Given the description of an element on the screen output the (x, y) to click on. 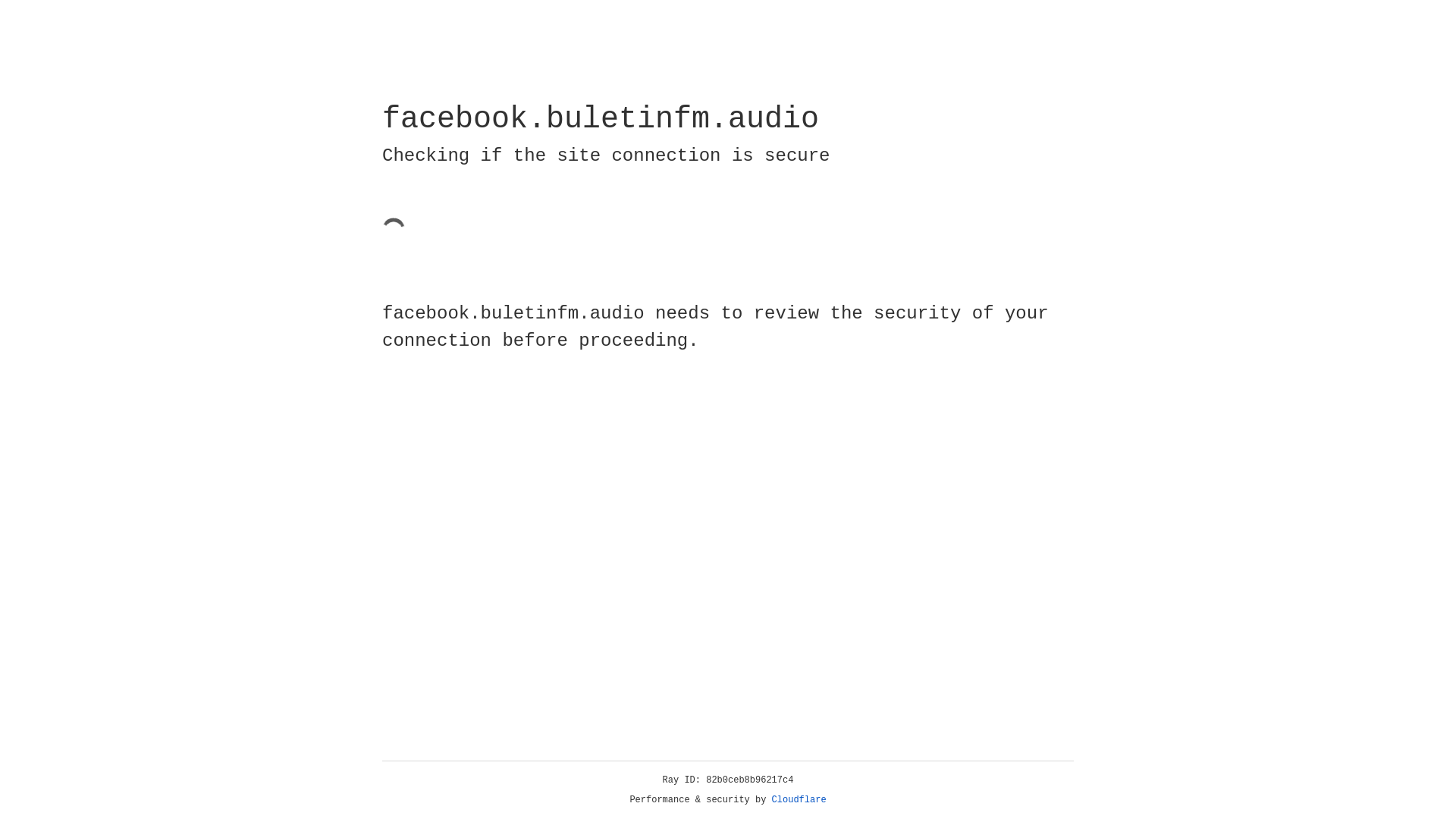
Cloudflare Element type: text (798, 799)
